Given the description of an element on the screen output the (x, y) to click on. 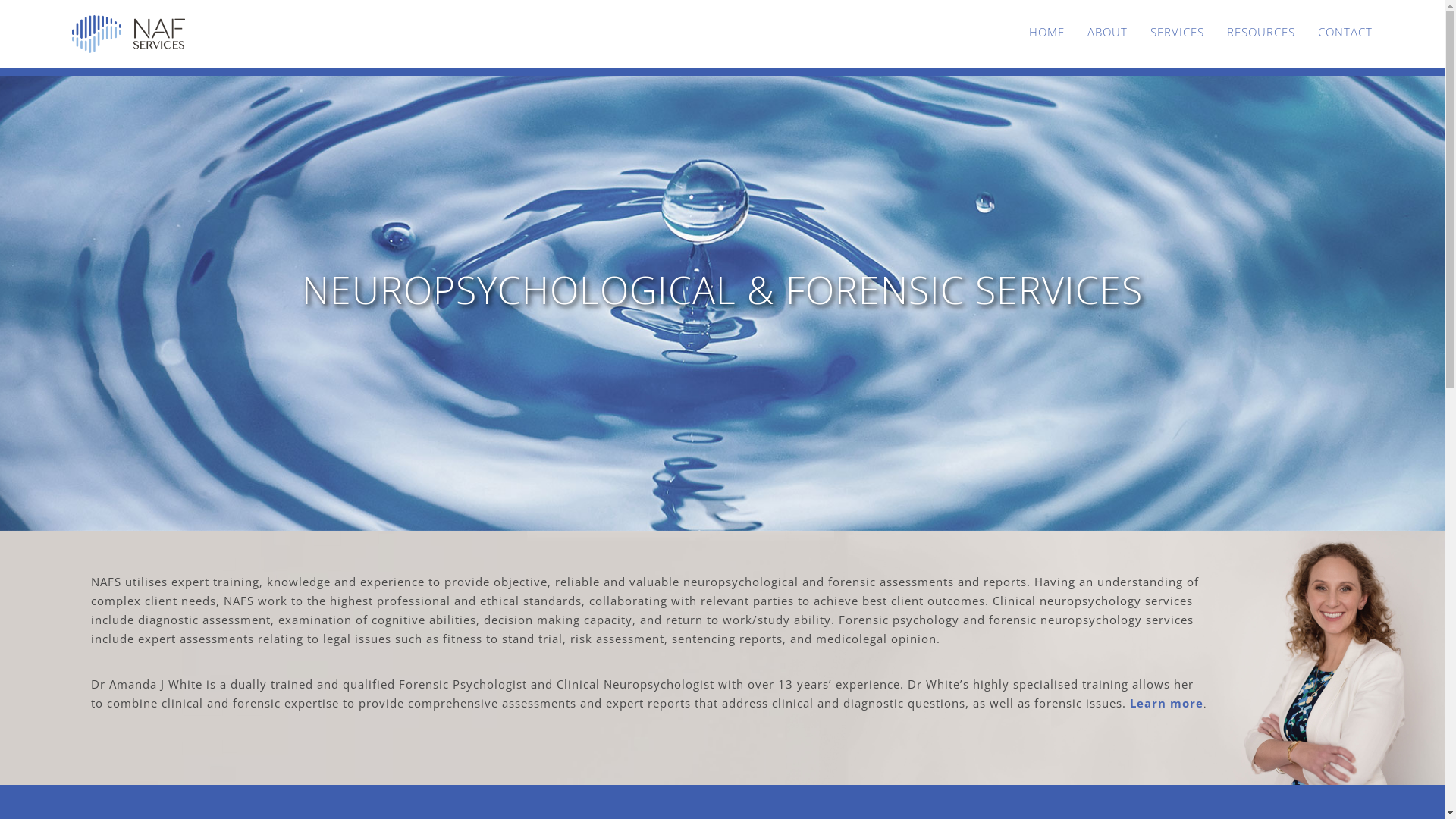
SERVICES Element type: text (1177, 31)
HOME Element type: text (1046, 31)
CONTACT Element type: text (1344, 31)
RESOURCES Element type: text (1260, 31)
Learn more Element type: text (1166, 702)
ABOUT Element type: text (1107, 31)
